Given the description of an element on the screen output the (x, y) to click on. 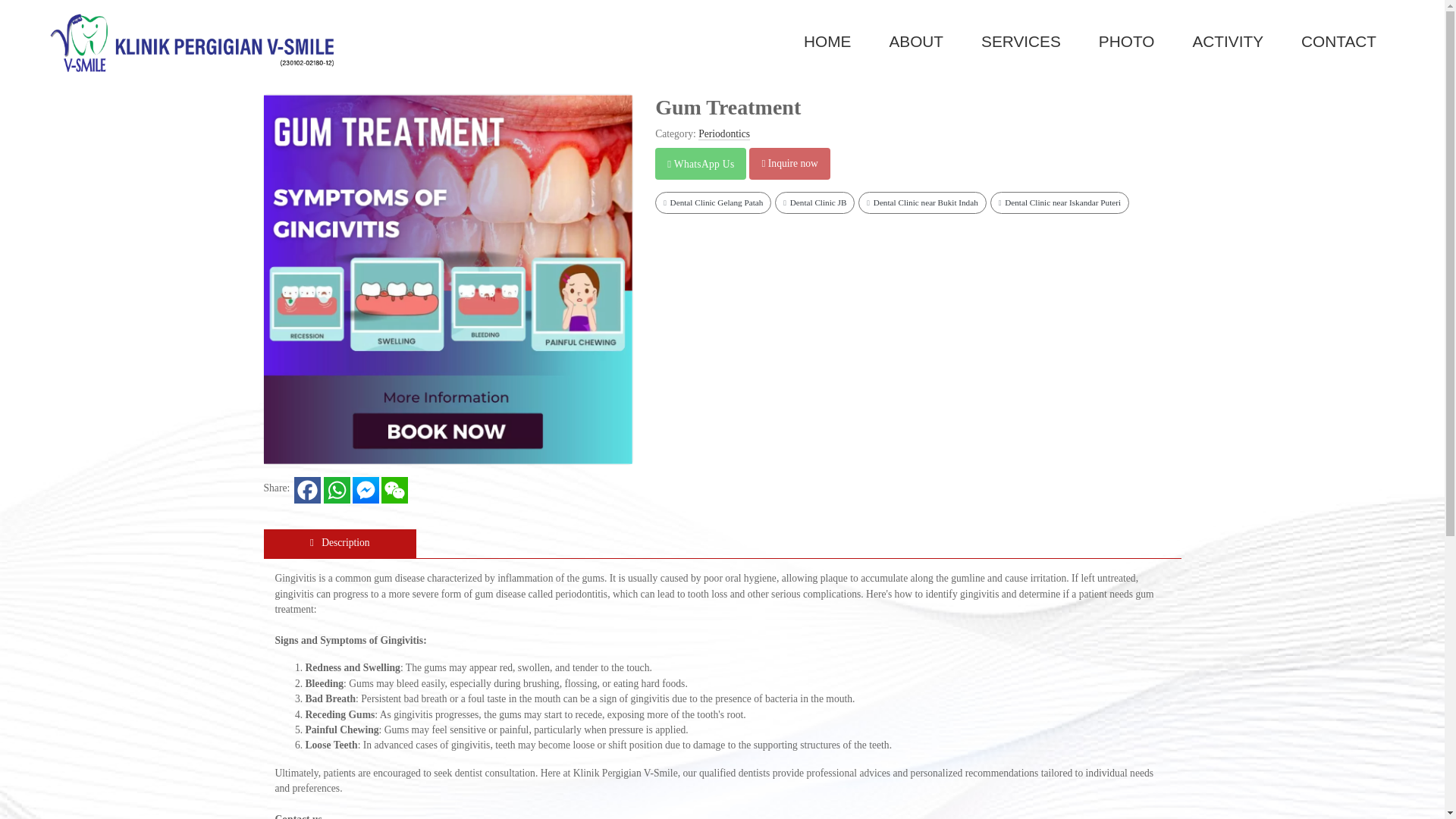
Gum Treatment (364, 74)
ABOUT (915, 40)
HOME (826, 40)
Photo (1126, 40)
WhatsApp Us (699, 164)
Inquire now (789, 163)
ACTIVITY (1227, 40)
Contact (1338, 40)
Home (826, 40)
WhatsApp Us (700, 163)
